Given the description of an element on the screen output the (x, y) to click on. 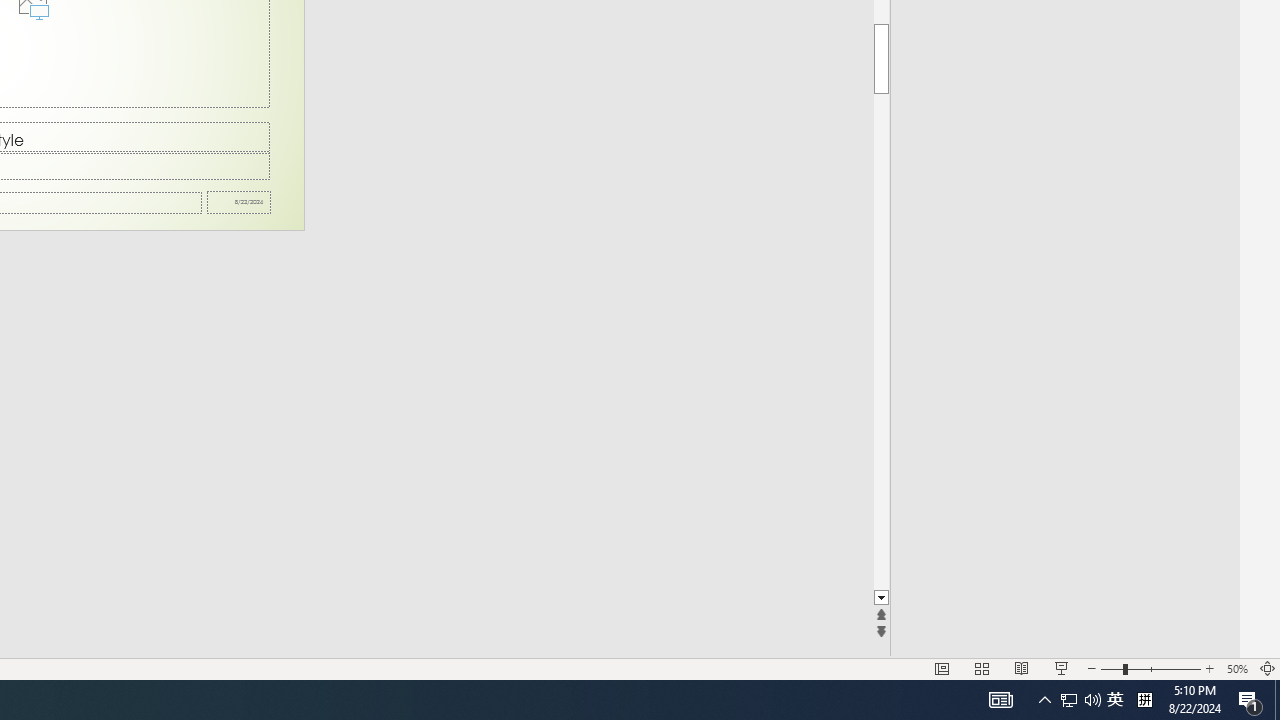
Date (239, 201)
Line down (880, 597)
Page down (880, 342)
Zoom 50% (1236, 668)
